Given the description of an element on the screen output the (x, y) to click on. 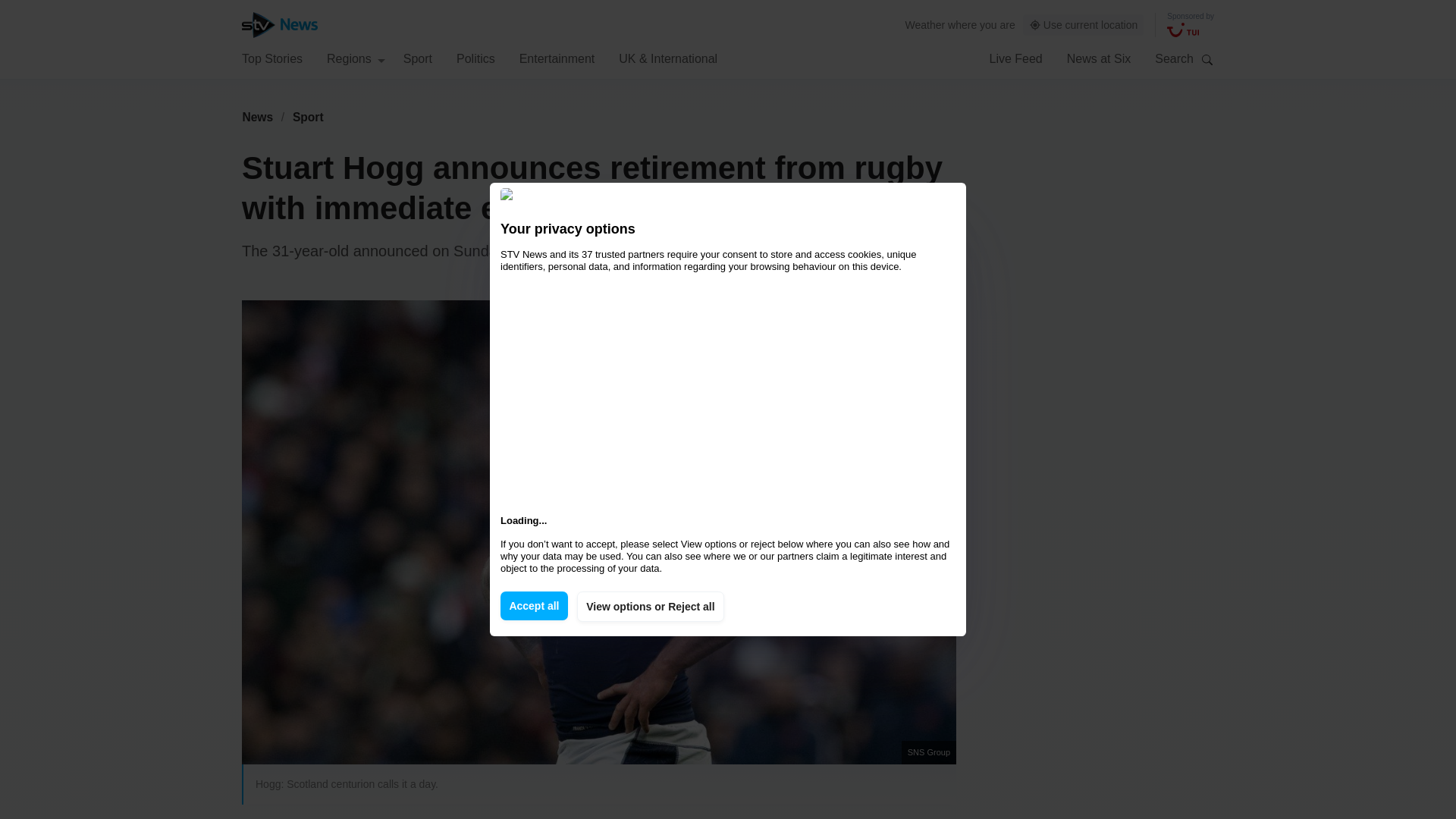
Search (1206, 59)
Regions (355, 57)
Politics (476, 57)
Top Stories (271, 57)
Use current location (1083, 25)
Weather (924, 24)
Live Feed (1015, 57)
News at Six (1099, 57)
News (257, 116)
Entertainment (557, 57)
Sport (308, 116)
